Given the description of an element on the screen output the (x, y) to click on. 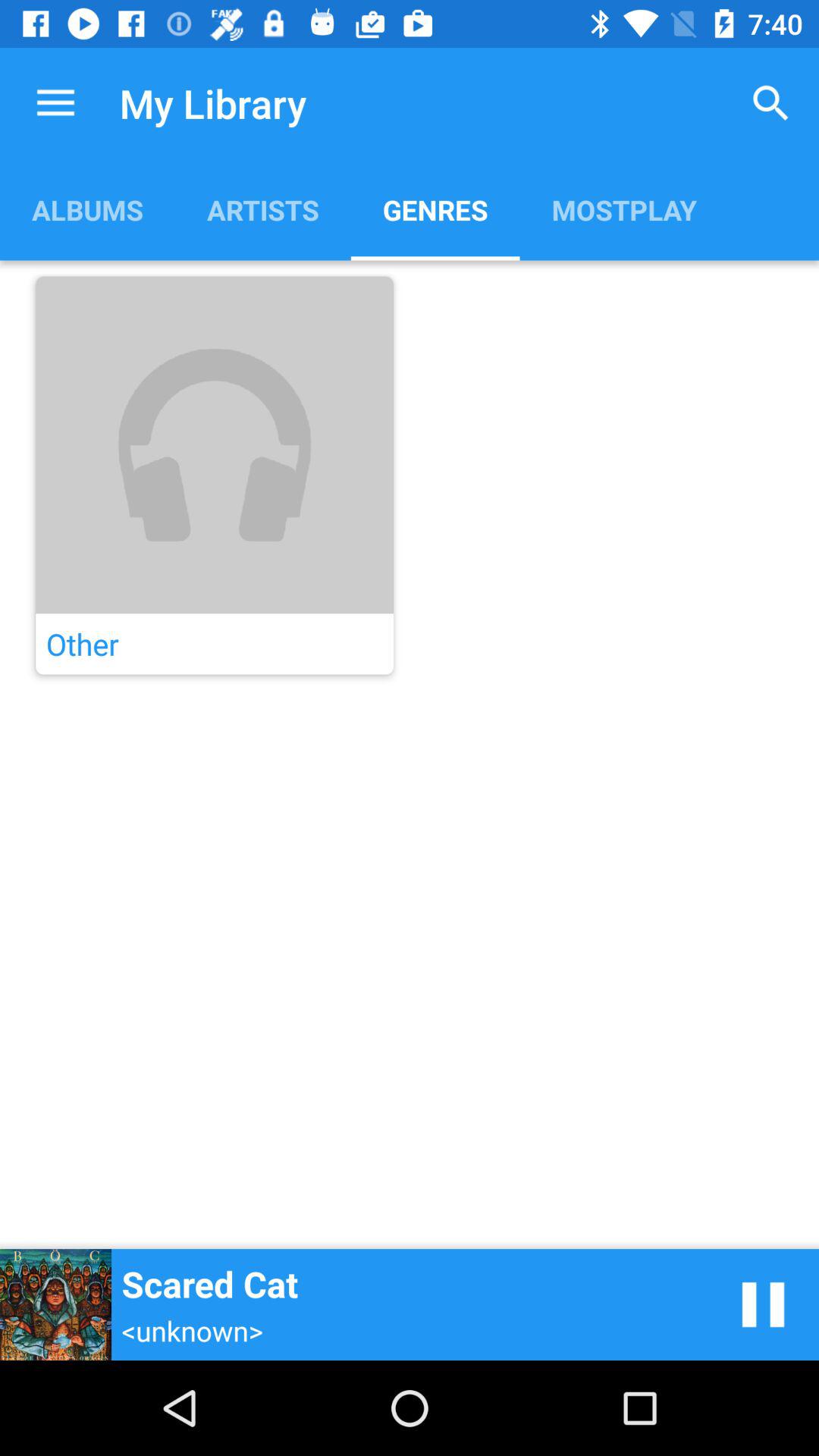
swipe to artists (262, 209)
